Given the description of an element on the screen output the (x, y) to click on. 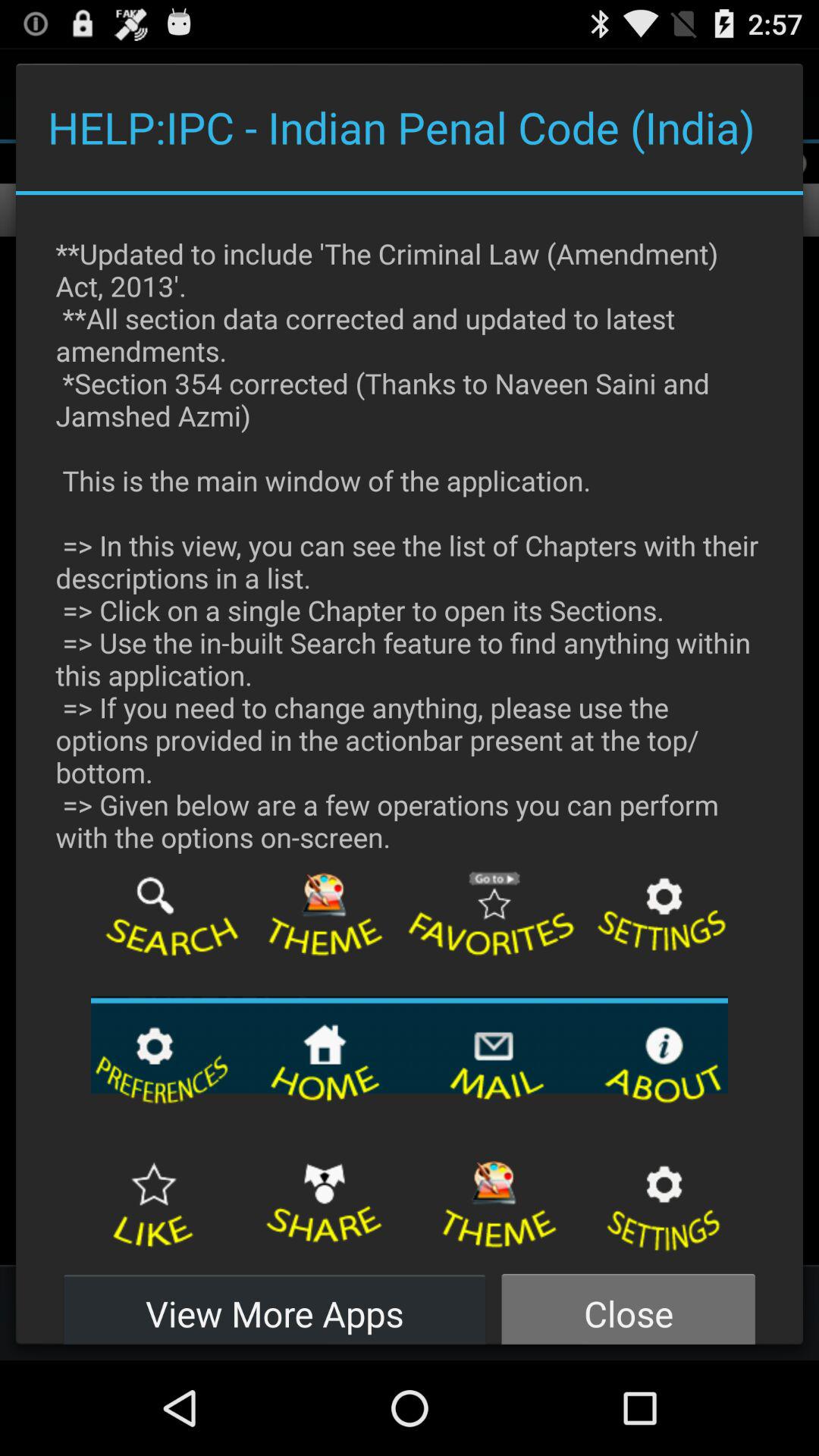
open icon to the left of the close (274, 1305)
